Given the description of an element on the screen output the (x, y) to click on. 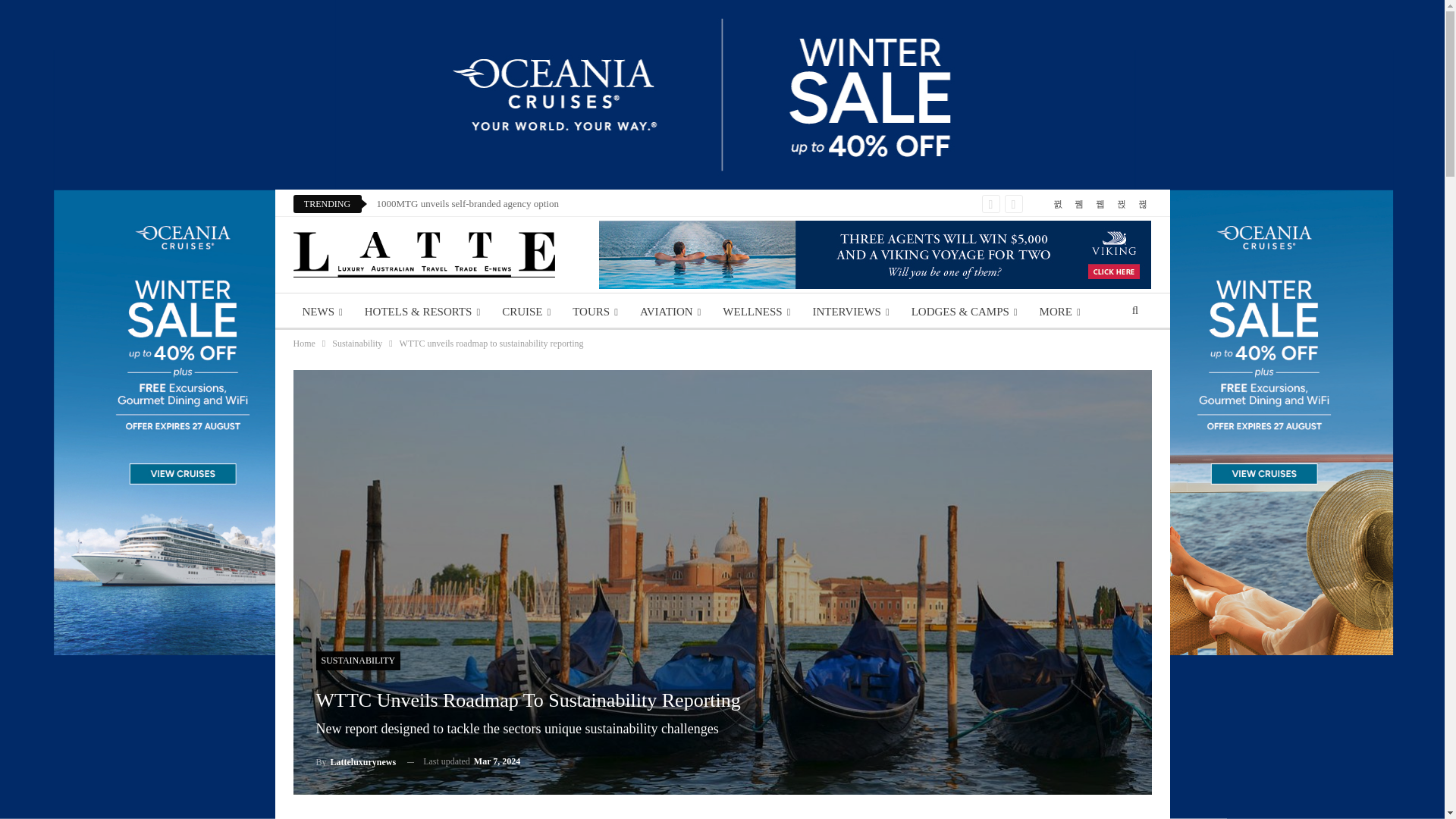
NEWS (321, 311)
1000MTG unveils self-branded agency option (466, 203)
